Given the description of an element on the screen output the (x, y) to click on. 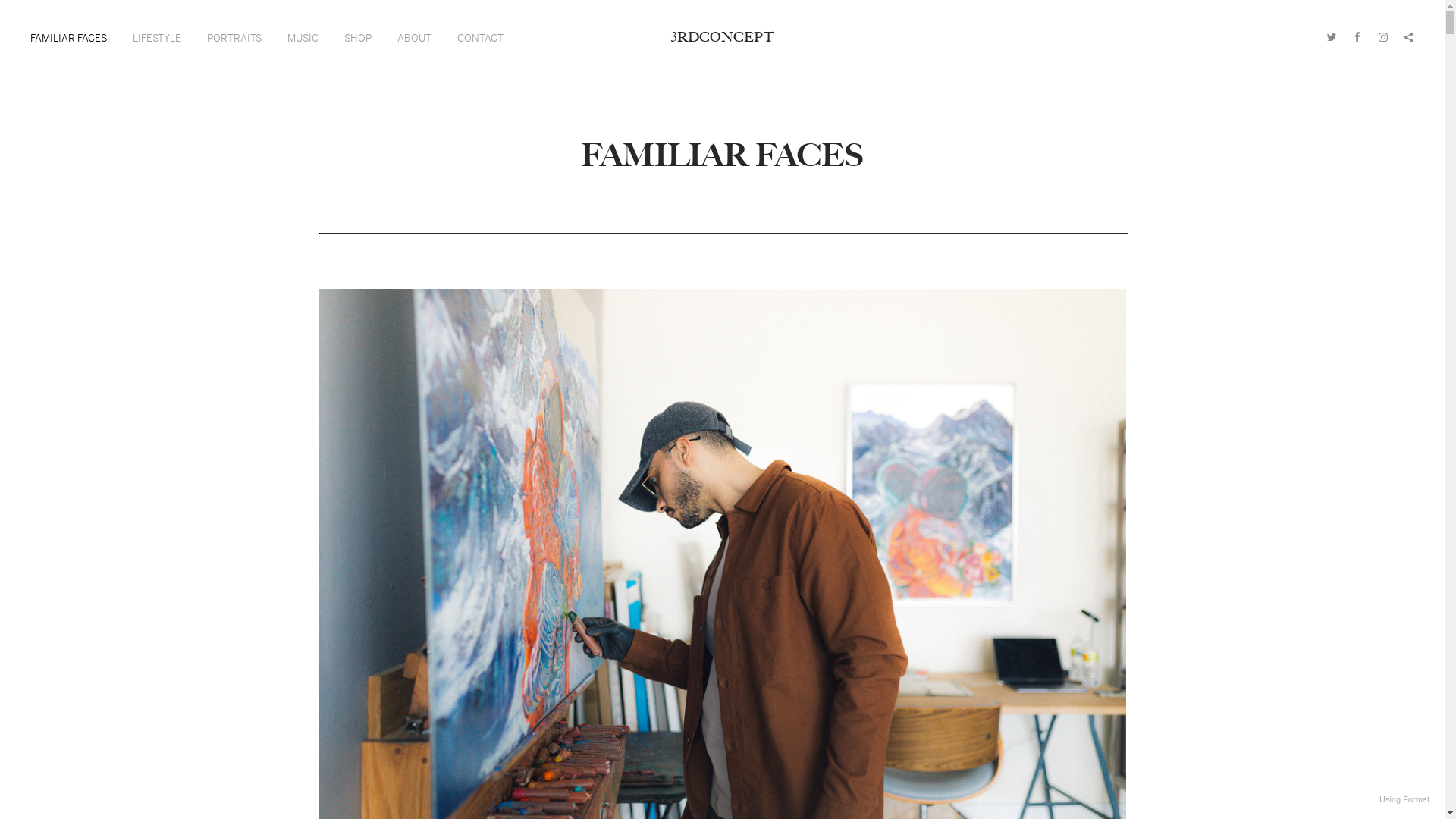
3RDCONCEPT Element type: text (722, 36)
PORTRAITS Element type: text (234, 37)
SHOP Element type: text (357, 37)
MUSIC Element type: text (302, 37)
Facebook Element type: hover (1357, 36)
LIFESTYLE Element type: text (156, 37)
Instagram Element type: hover (1382, 36)
ABOUT Element type: text (414, 37)
Share Element type: hover (1408, 36)
CONTACT Element type: text (480, 37)
Twitter Element type: hover (1331, 36)
FAMILIAR FACES Element type: text (68, 37)
Using Format Element type: text (1404, 799)
